Given the description of an element on the screen output the (x, y) to click on. 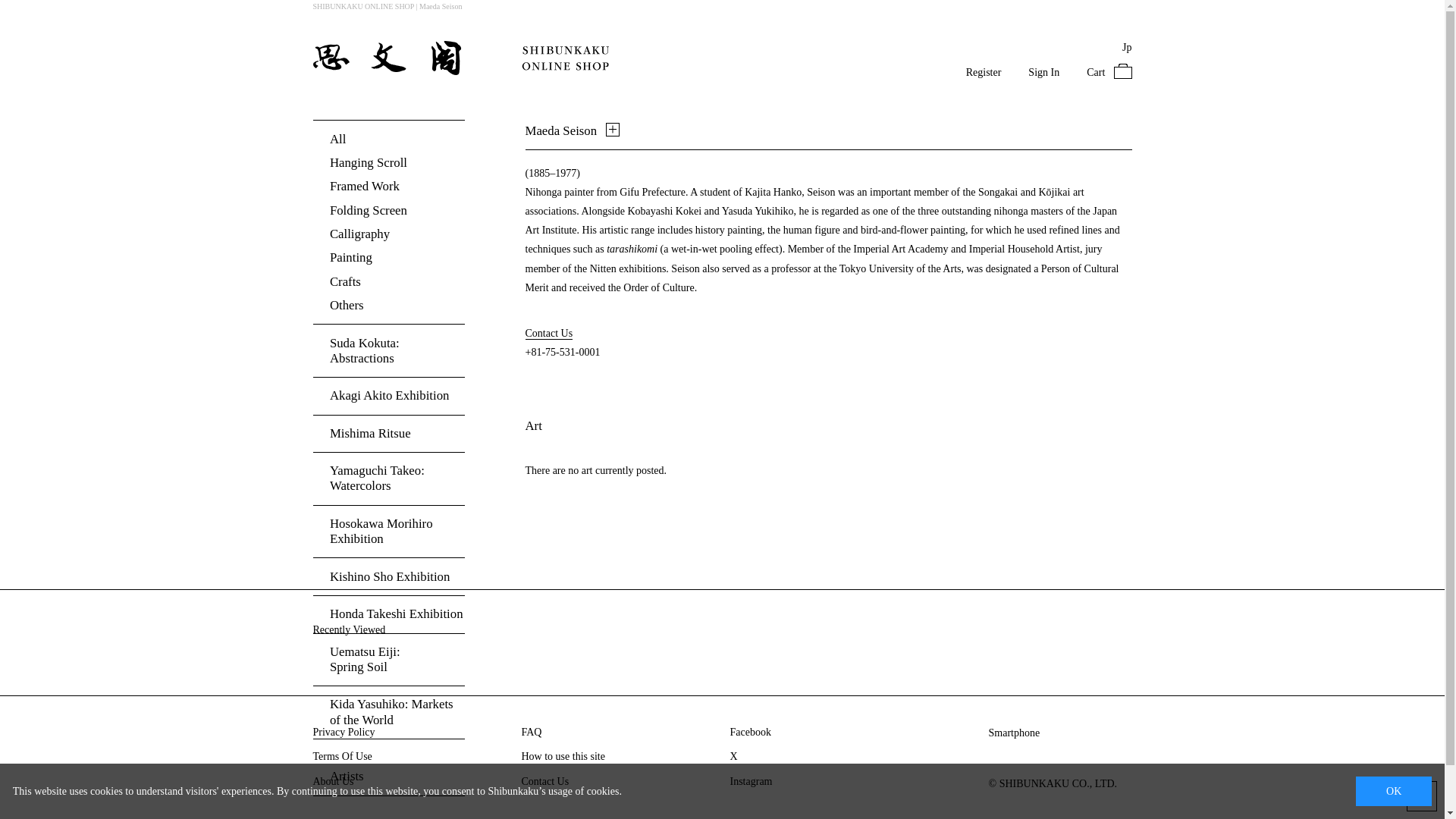
Framed Work (388, 186)
How to use this site (563, 757)
X (732, 757)
Jp (1126, 47)
FAQ (388, 659)
Others (531, 732)
Register (388, 305)
Contact Us (983, 71)
Akagi Akito Exhibition (545, 781)
Instagram (388, 395)
SHIBUNKAKU ONLINE SHOP (388, 478)
Cart (750, 781)
